Given the description of an element on the screen output the (x, y) to click on. 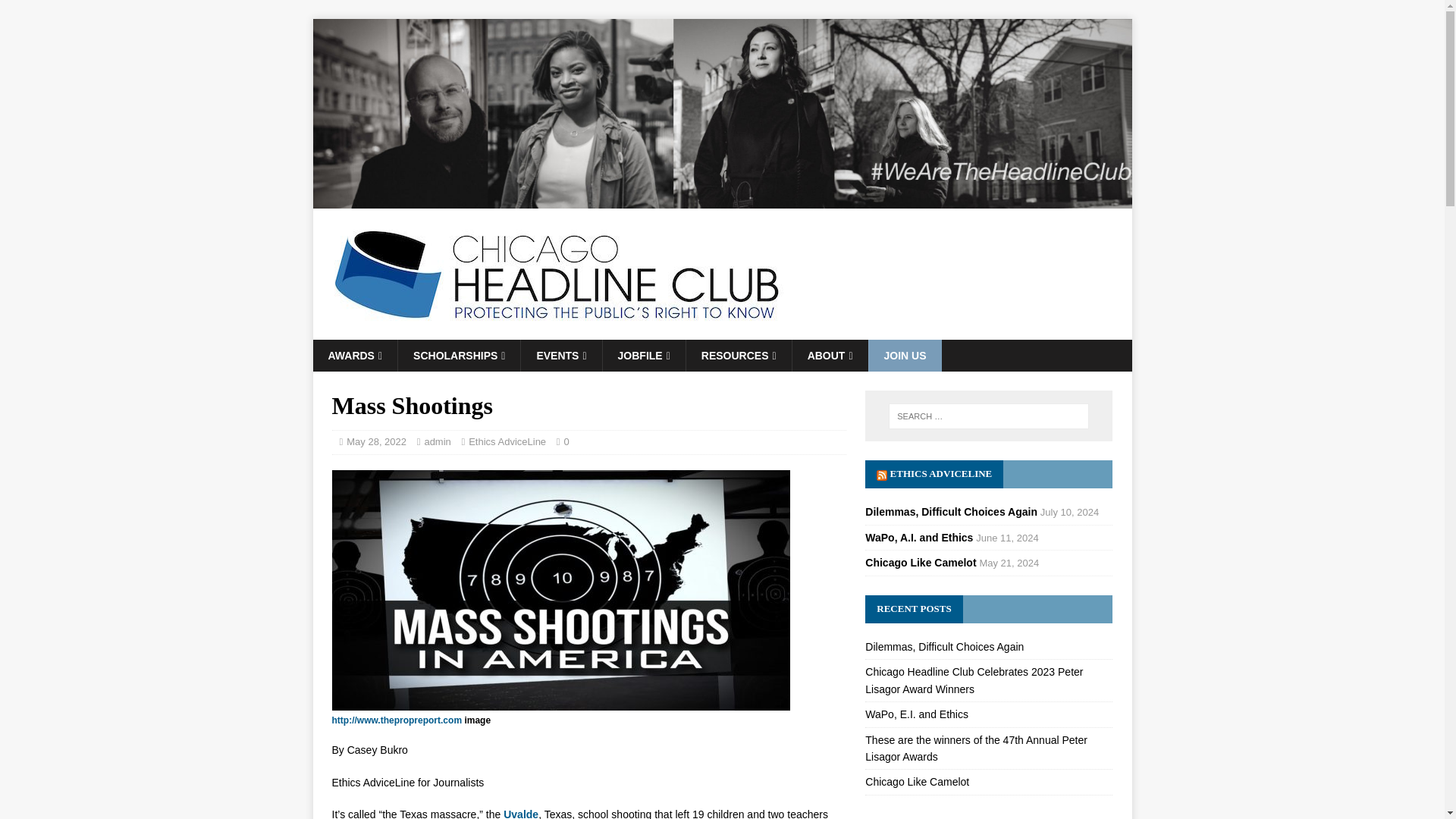
Chicago Headline Club (722, 199)
